Given the description of an element on the screen output the (x, y) to click on. 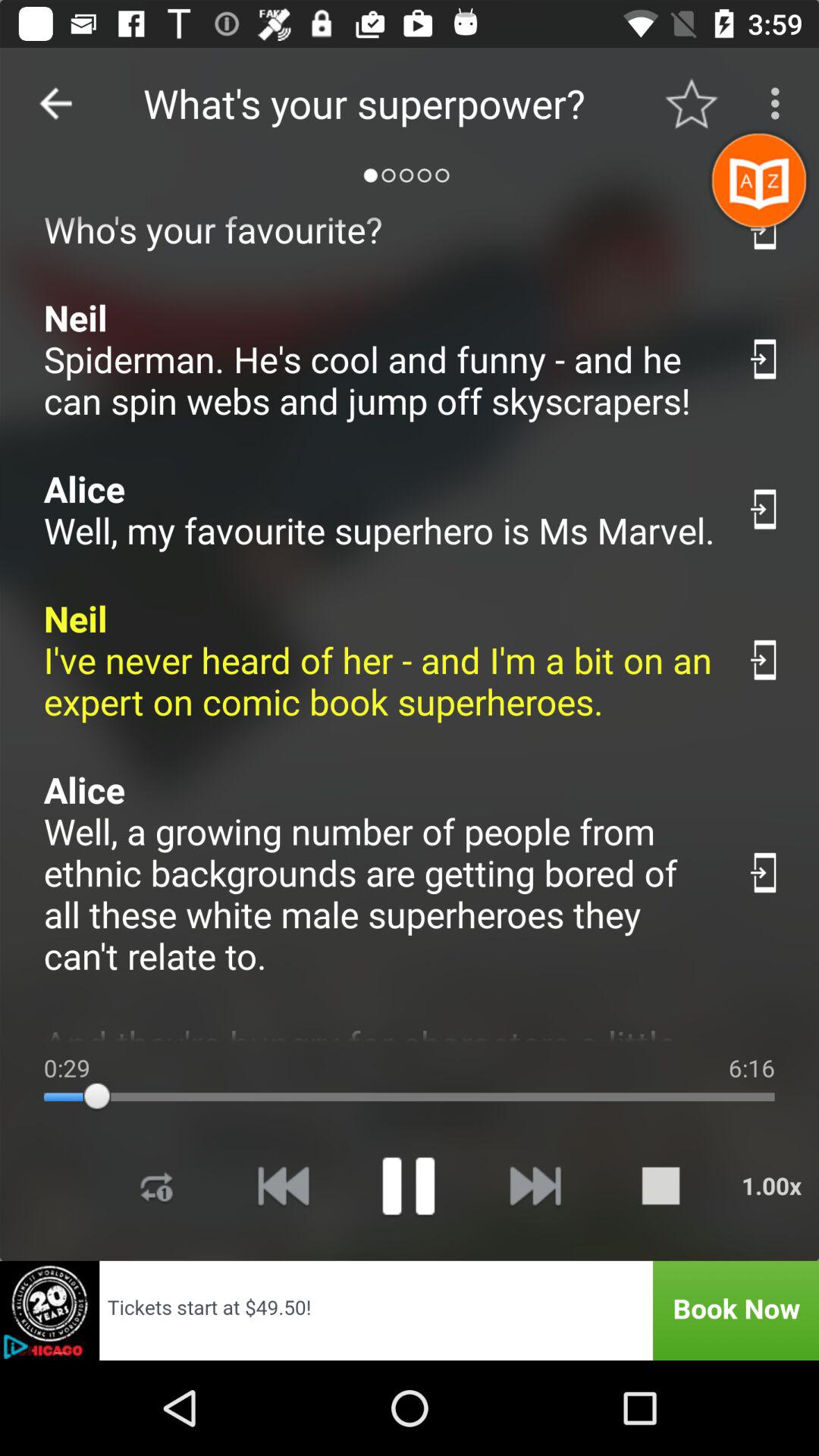
stop media (660, 1185)
